Given the description of an element on the screen output the (x, y) to click on. 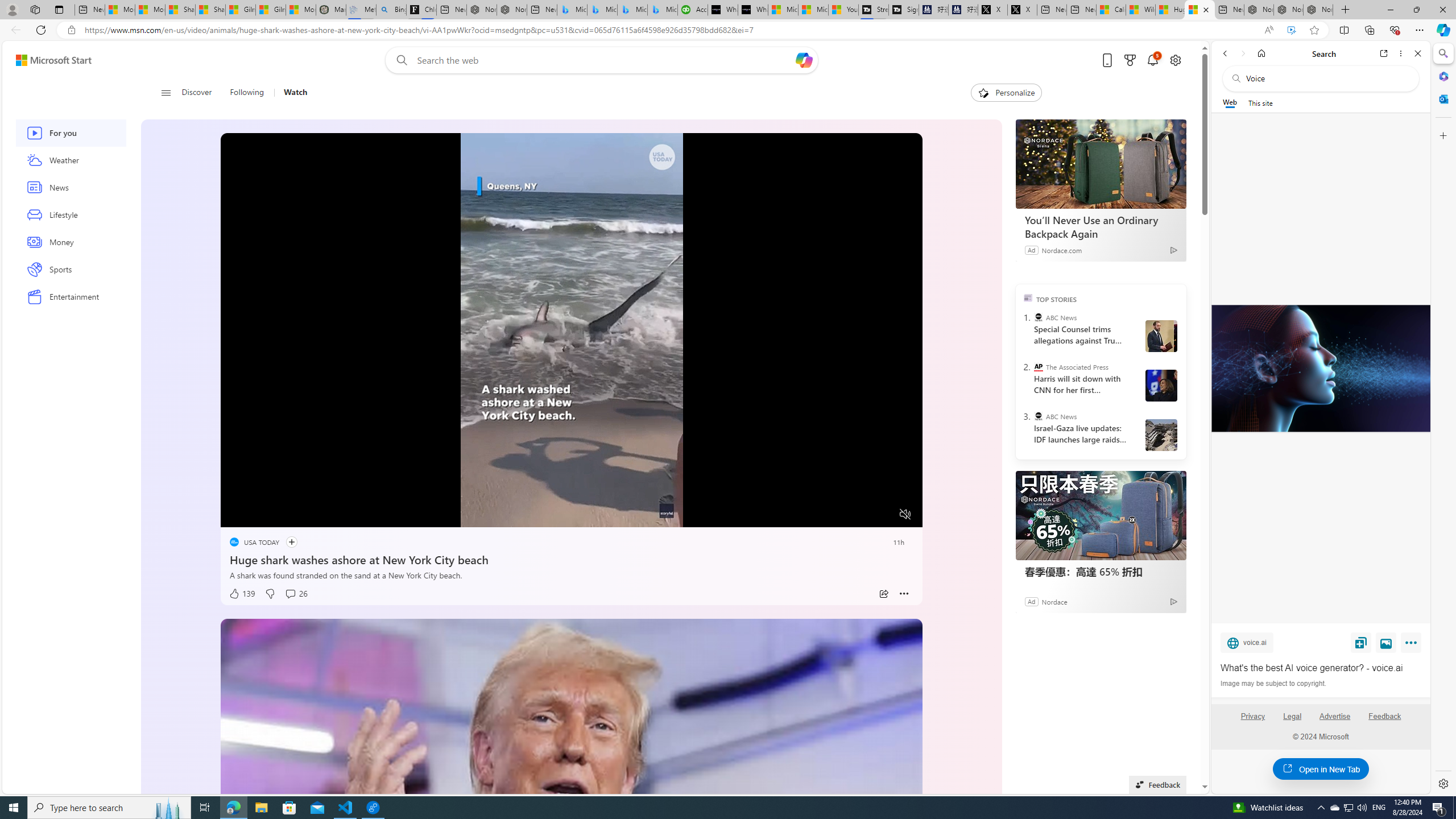
Web scope (1230, 102)
Pause (236, 514)
Microsoft rewards (1129, 60)
Seek Back (260, 514)
Class: button-glyph (165, 92)
Customize (1442, 135)
placeholder USA TODAY (254, 542)
